Given the description of an element on the screen output the (x, y) to click on. 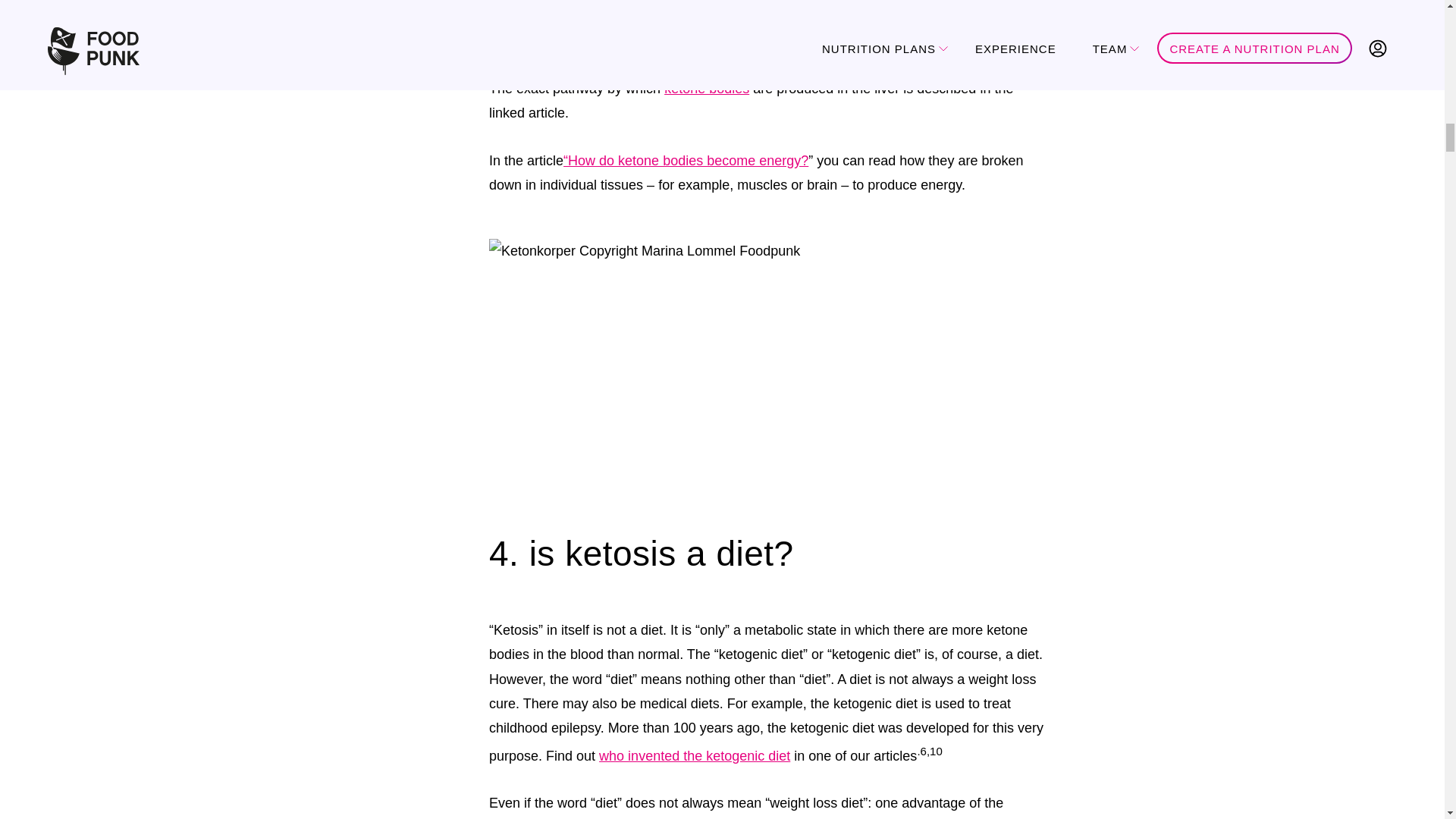
who invented the ketogenic diet (694, 755)
ketone bodies (706, 88)
transporter channels (953, 13)
